Given the description of an element on the screen output the (x, y) to click on. 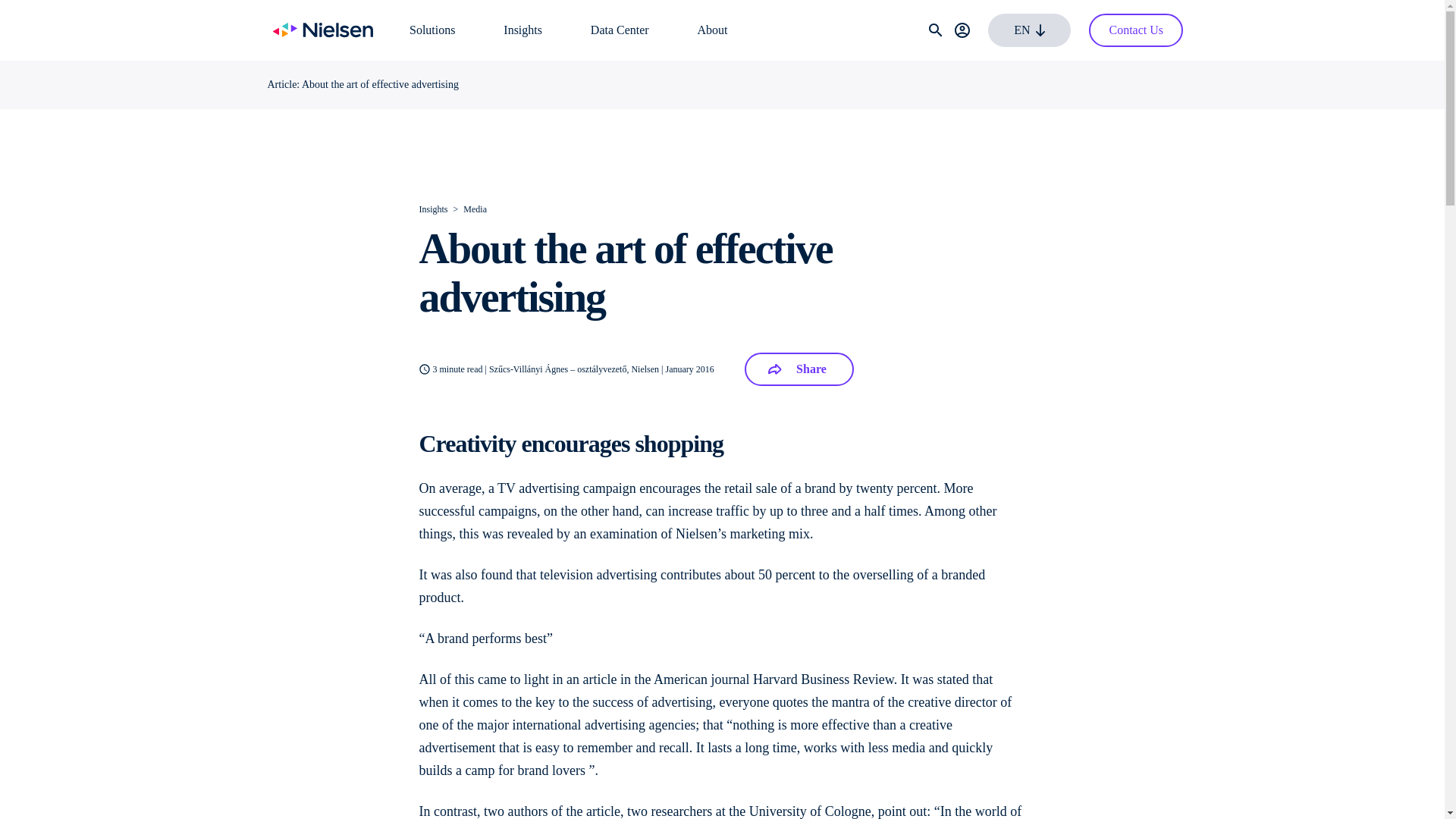
Insights (522, 29)
Solutions (431, 29)
